Given the description of an element on the screen output the (x, y) to click on. 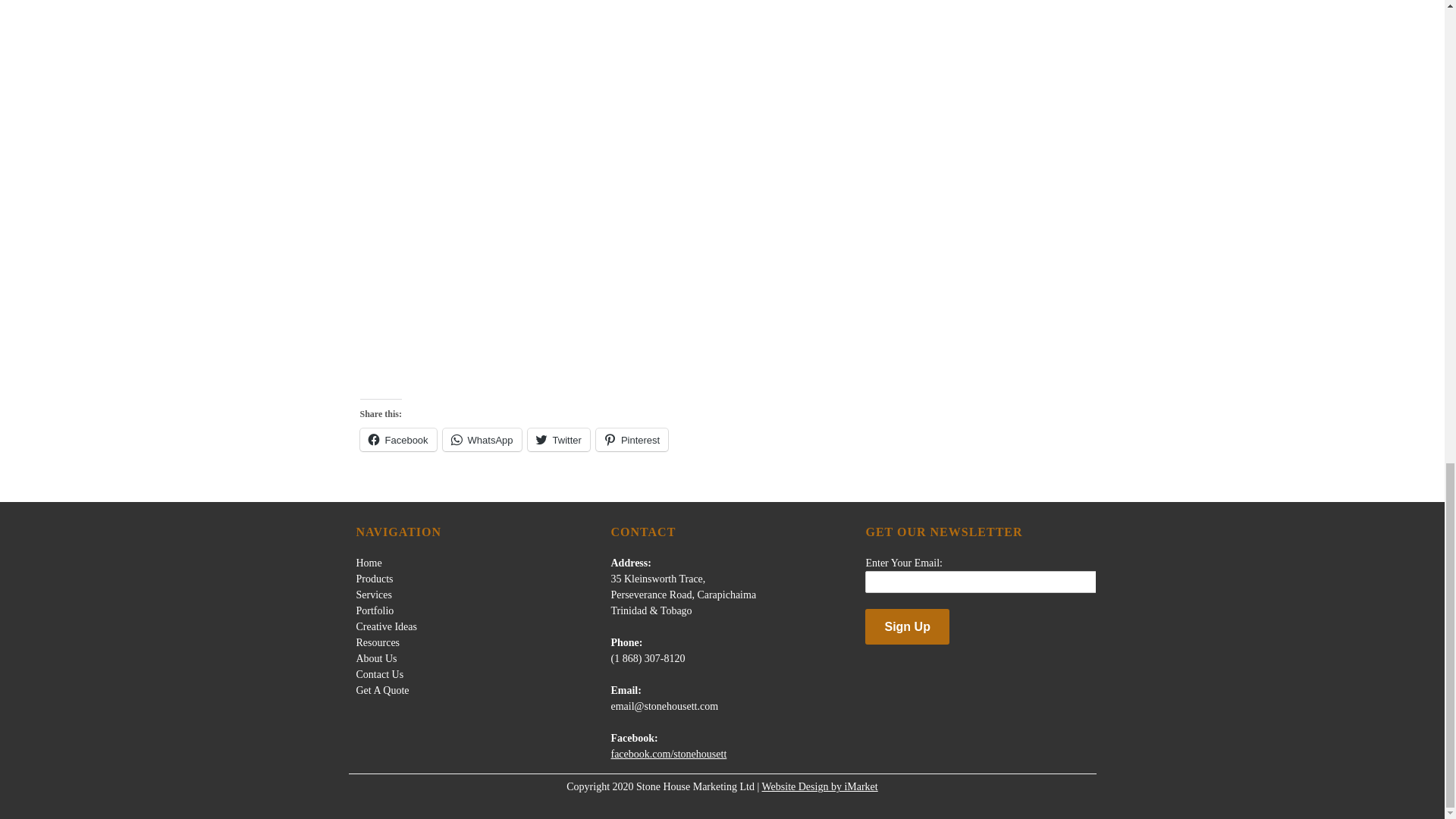
WhatsApp (481, 439)
Contact Us (380, 674)
Twitter (558, 439)
Get A Quote (382, 690)
Home (368, 562)
About Us (376, 658)
Sign Up (906, 626)
Sign Up (906, 626)
Pinterest (631, 439)
Portfolio (375, 610)
